Given the description of an element on the screen output the (x, y) to click on. 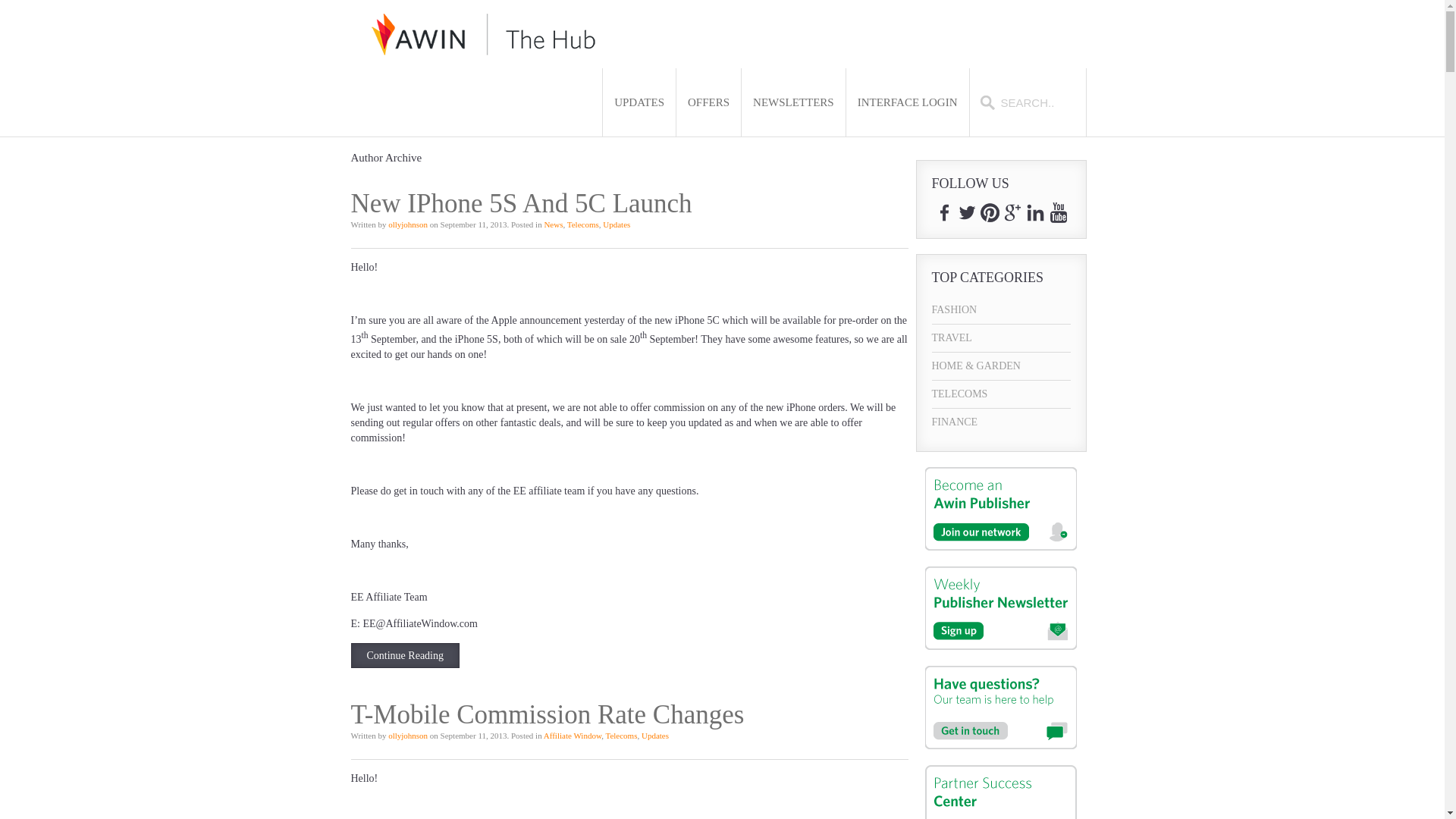
INTERFACE LOGIN (907, 102)
ollyjohnson (408, 735)
Telecoms (582, 224)
Telecoms (621, 735)
UPDATES (639, 102)
Interface Login (907, 102)
Affiliate Window (572, 735)
New iPhone 5S and 5C launch (520, 203)
New iPhone 5S and 5C launch (405, 655)
ollyjohnson (408, 224)
OFFERS (708, 102)
ollyjohnson (408, 224)
Continue Reading (405, 655)
ollyjohnson (408, 735)
News (552, 224)
